Given the description of an element on the screen output the (x, y) to click on. 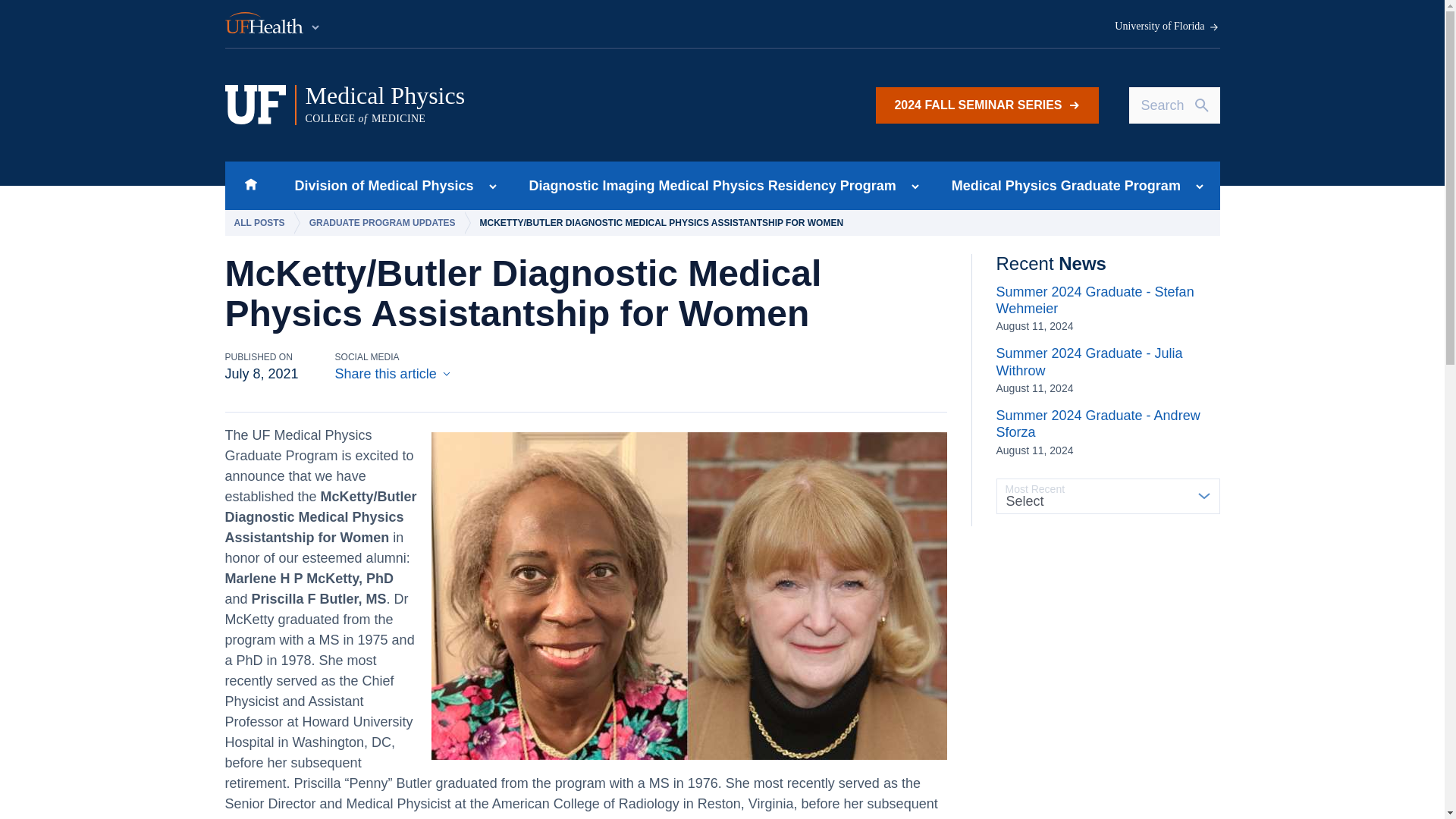
Home (250, 185)
University of Florida (1167, 26)
UF Health (272, 24)
2024 FALL SEMINAR SERIES (986, 104)
Skip to main content (515, 105)
Diagnostic Imaging Medical Physics Residency Program (378, 185)
